Given the description of an element on the screen output the (x, y) to click on. 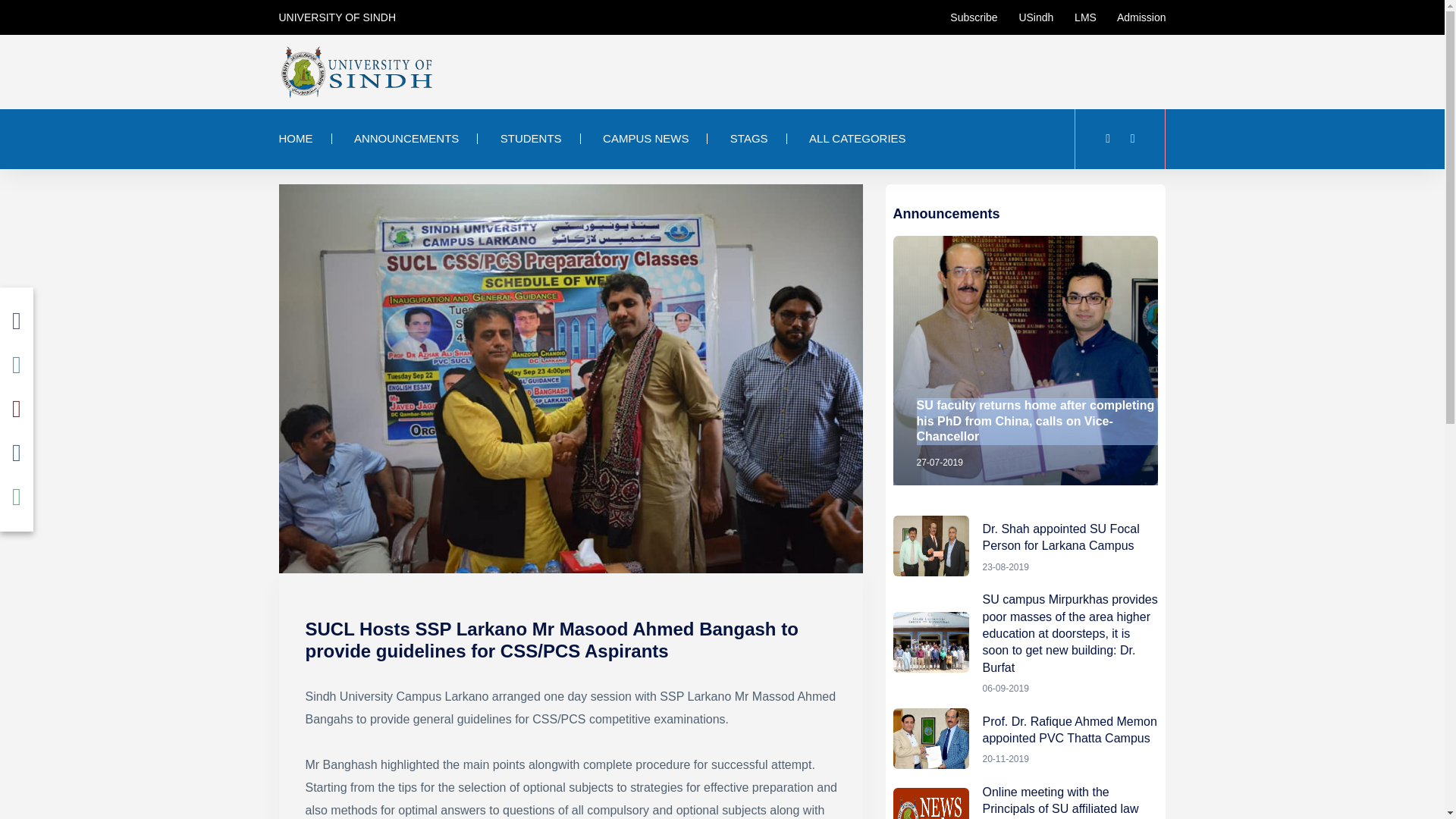
UNIVERSITY OF SINDH (337, 17)
STUDENTS (530, 138)
      Admission (1132, 17)
CAMPUS NEWS (645, 138)
      USindh (1026, 17)
      LMS (1076, 17)
HOME (305, 138)
Subscribe (973, 17)
ALL CATEGORIES (857, 138)
STAGS (749, 138)
ANNOUNCEMENTS (405, 138)
